Given the description of an element on the screen output the (x, y) to click on. 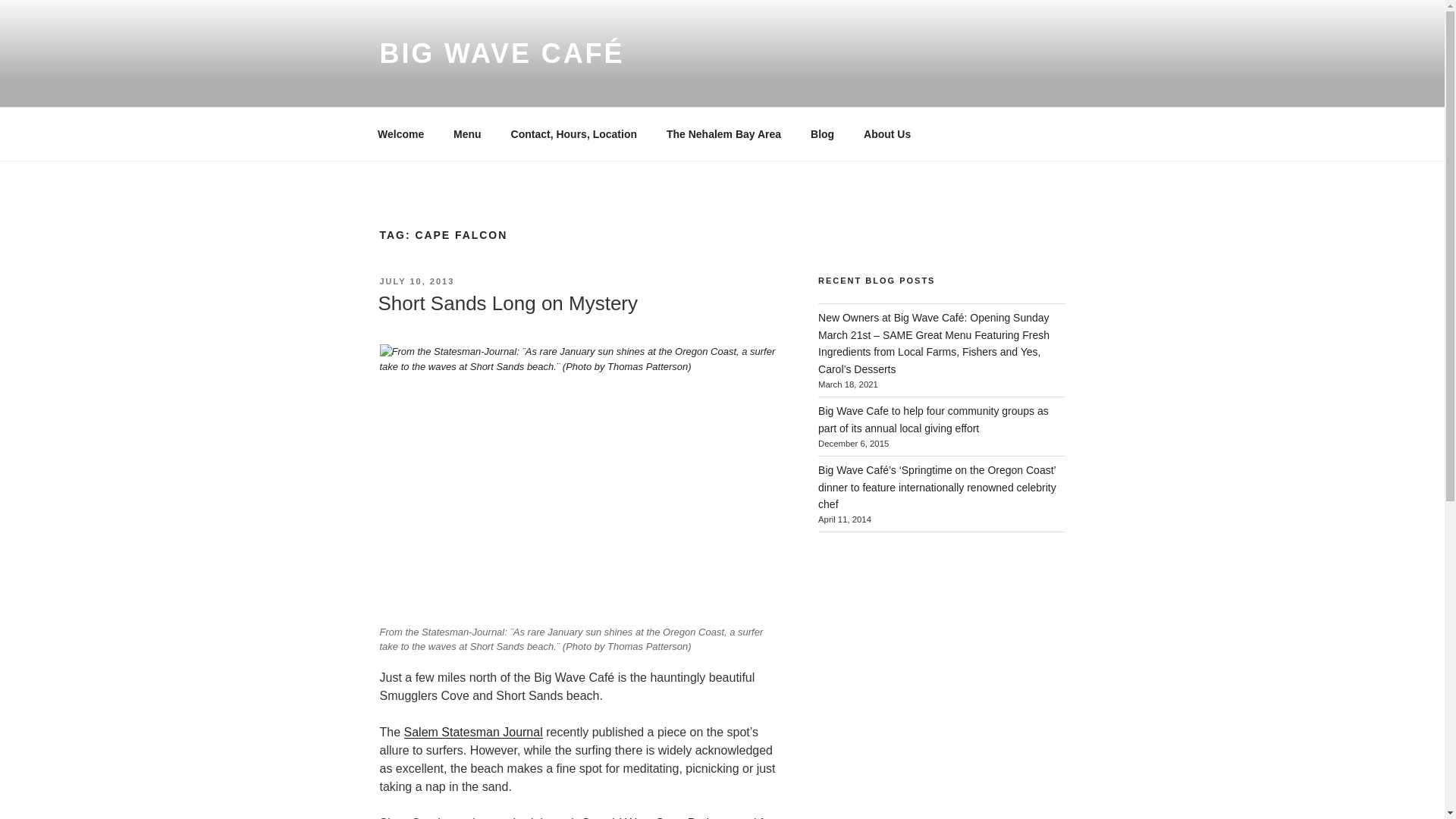
Contact, Hours, Location (573, 133)
Blog (822, 133)
'Making the Waves' (473, 731)
Short Sands Long on Mystery (507, 302)
Oswald West State Park (645, 817)
About Us (887, 133)
Menu (468, 133)
Oswald West State Park (645, 817)
Welcome (400, 133)
The Nehalem Bay Area (722, 133)
JULY 10, 2013 (416, 280)
Salem Statesman Journal (473, 731)
